Given the description of an element on the screen output the (x, y) to click on. 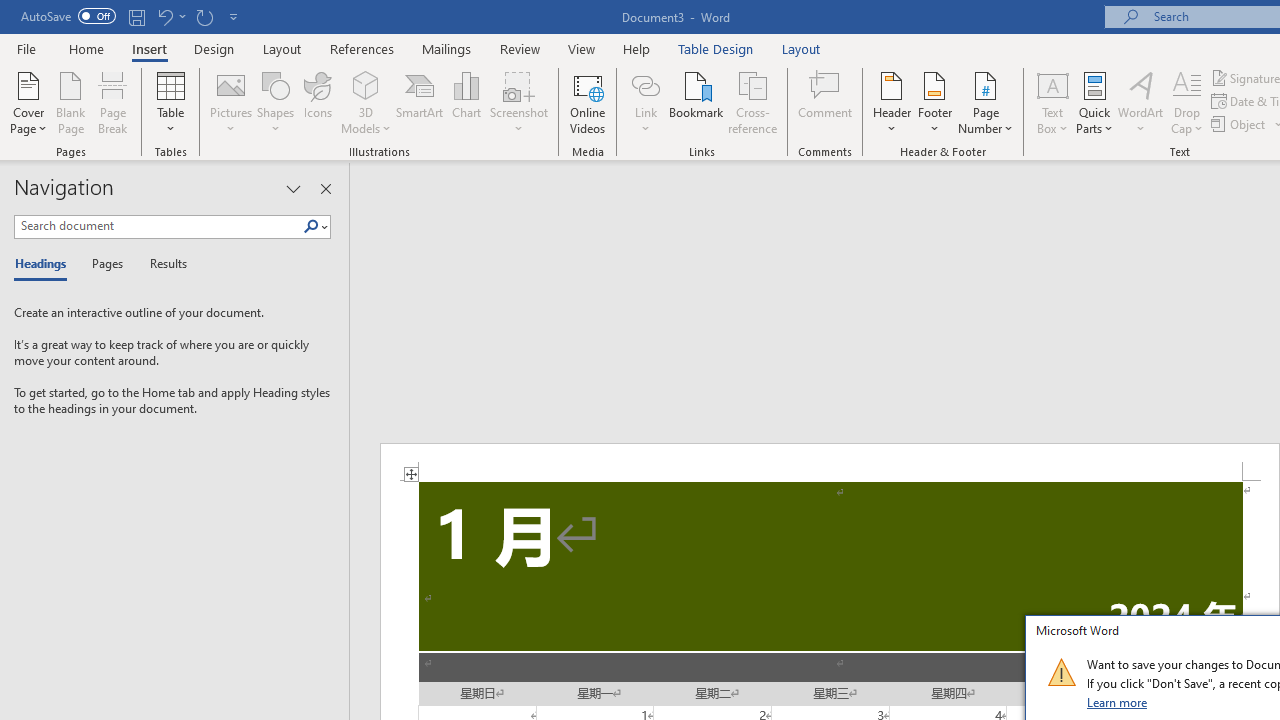
Pictures (230, 102)
Drop Cap (1187, 102)
Text Box (1052, 102)
Screenshot (518, 102)
Bookmark... (695, 102)
3D Models (366, 102)
Chart... (466, 102)
Shapes (275, 102)
